Given the description of an element on the screen output the (x, y) to click on. 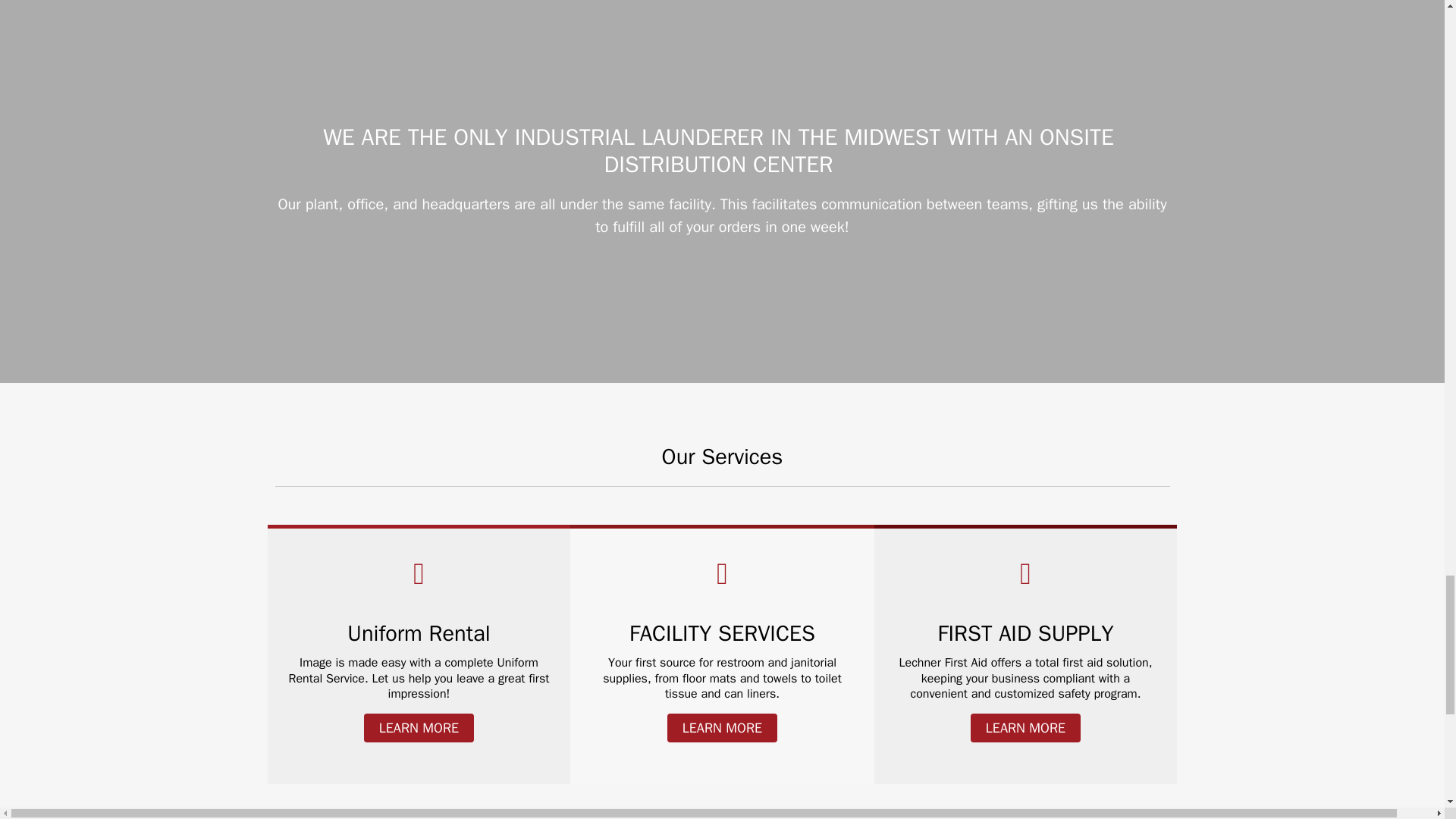
Click Here (721, 727)
Click Here (419, 727)
Click Here (1025, 727)
